Given the description of an element on the screen output the (x, y) to click on. 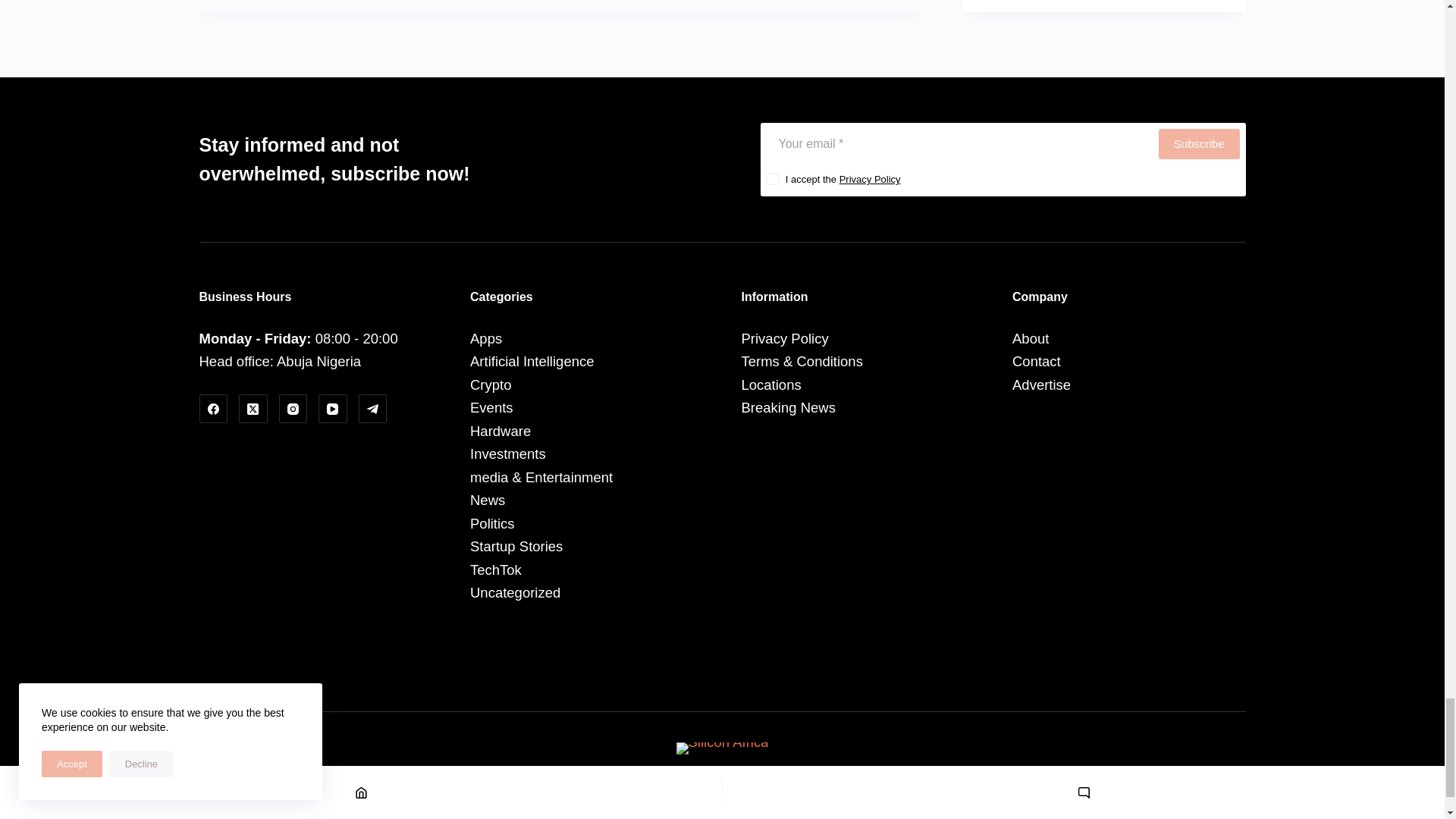
on (771, 178)
Email (957, 143)
